Given the description of an element on the screen output the (x, y) to click on. 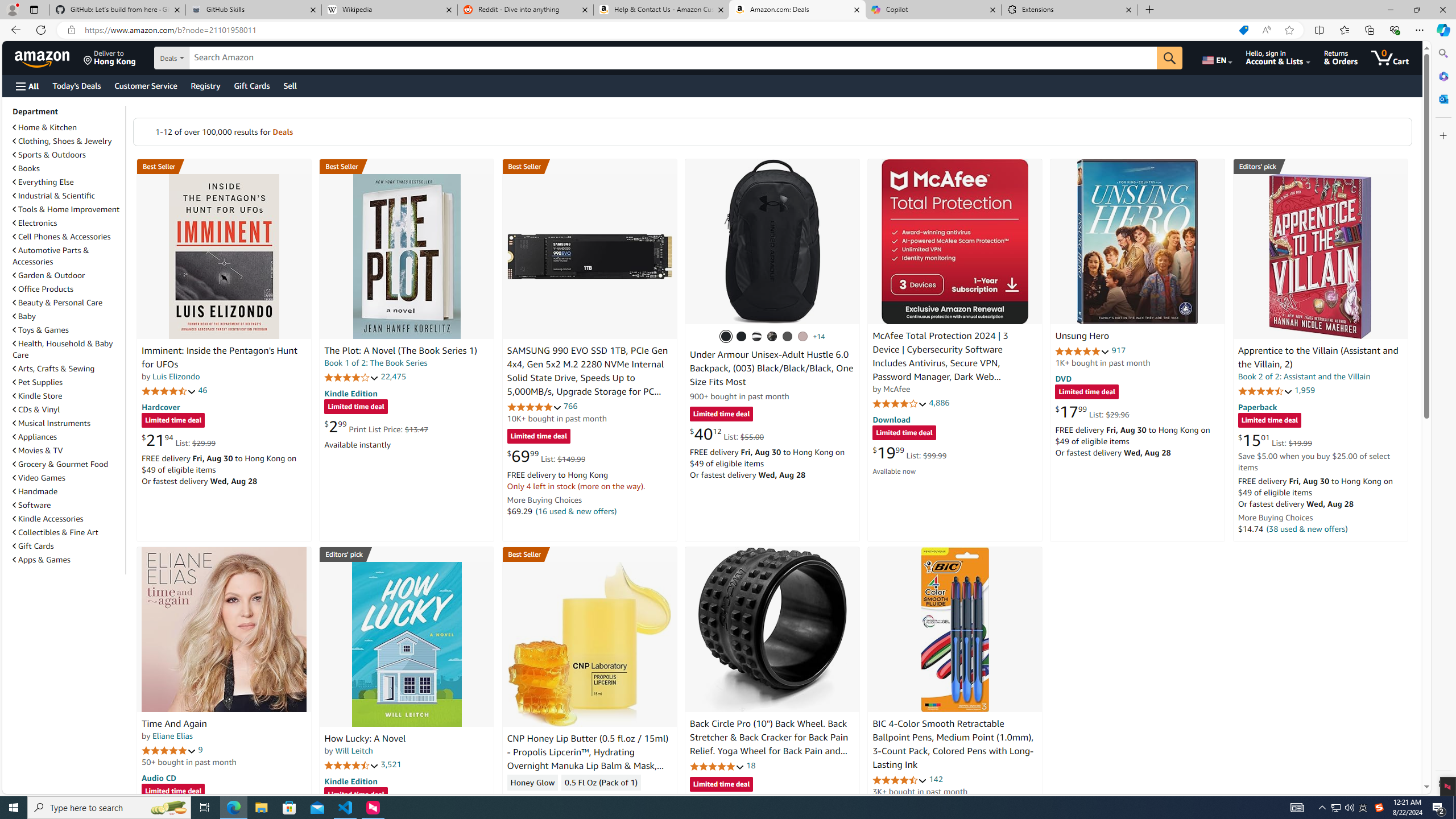
Amazon.com: Deals (797, 9)
Software (31, 504)
Book 2 of 2: Assistant and the Villain (1303, 376)
Pet Supplies (67, 382)
Book 1 of 2: The Book Series (376, 362)
Home & Kitchen (67, 127)
46 (203, 390)
(001) Black / Black / Metallic Gold (741, 336)
Clothing, Shoes & Jewelry (62, 140)
Health, Household & Baby Care (67, 348)
Best Seller in Lip Butters (589, 553)
Audio CD (158, 777)
Movies & TV (67, 450)
